Given the description of an element on the screen output the (x, y) to click on. 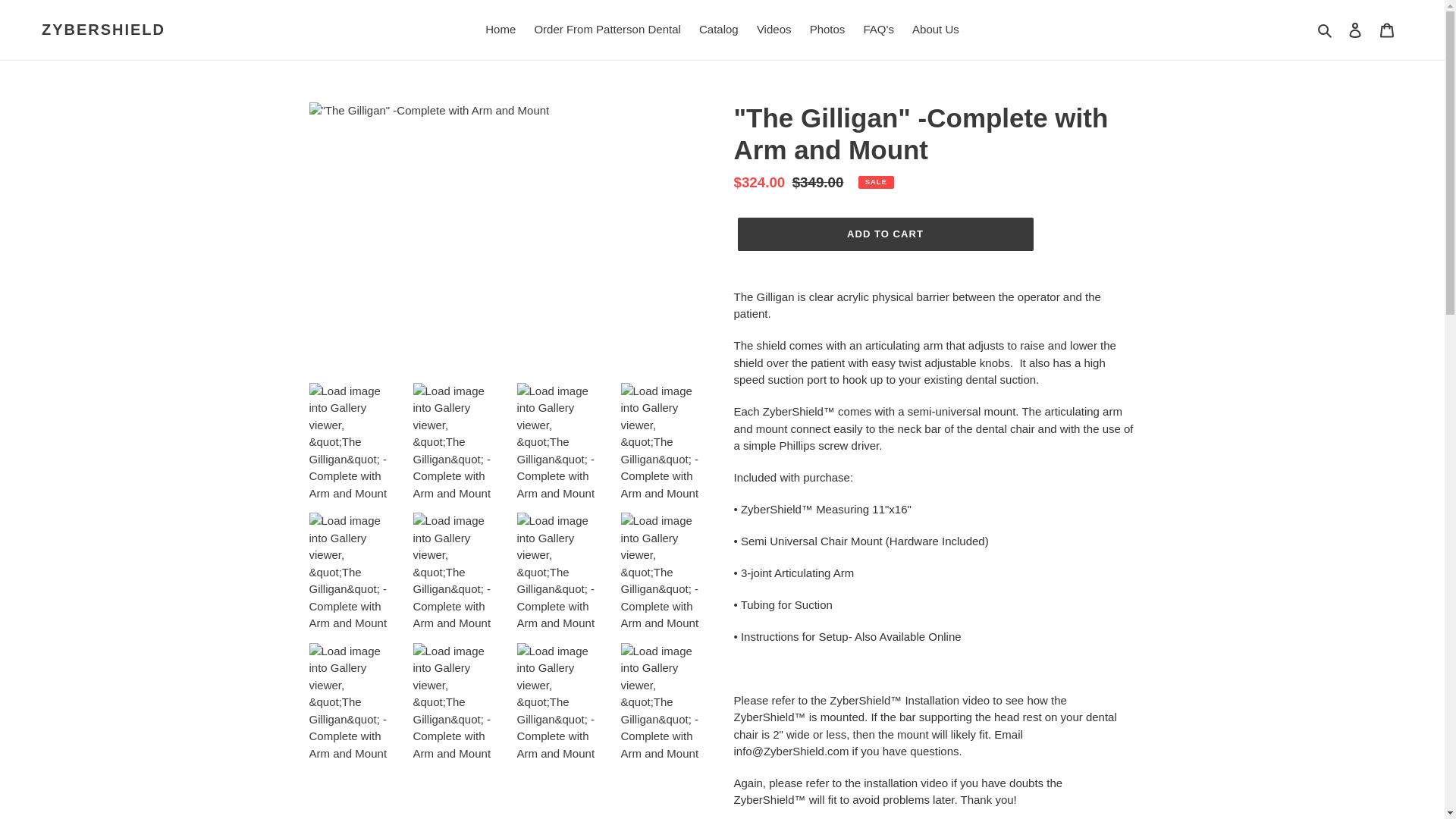
Photos (827, 29)
Videos (774, 29)
Cart (1387, 29)
Catalog (718, 29)
ADD TO CART (884, 233)
FAQ's (878, 29)
Order From Patterson Dental (606, 29)
Home (499, 29)
ZYBERSHIELD (103, 29)
Search (1326, 29)
Log in (1355, 29)
About Us (935, 29)
